Given the description of an element on the screen output the (x, y) to click on. 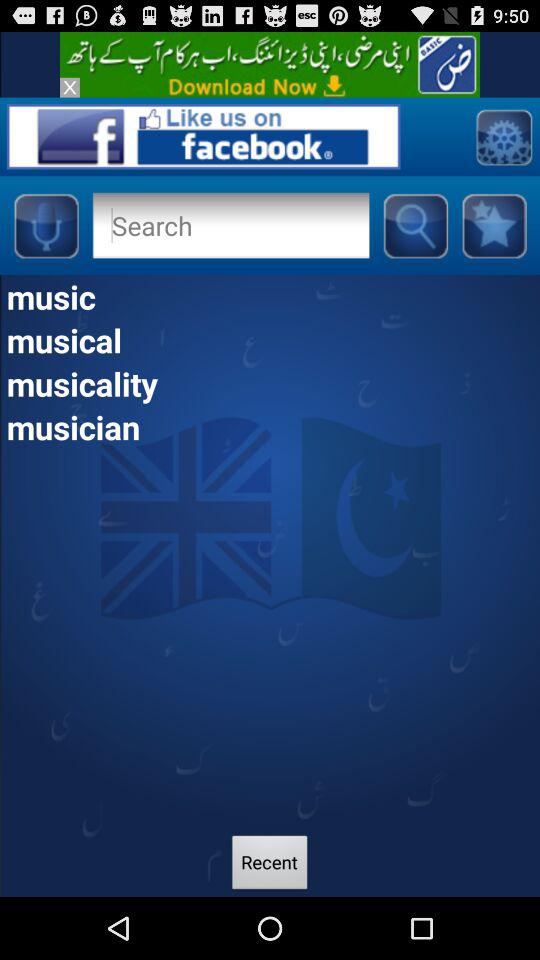
jump to the musicality (270, 383)
